Given the description of an element on the screen output the (x, y) to click on. 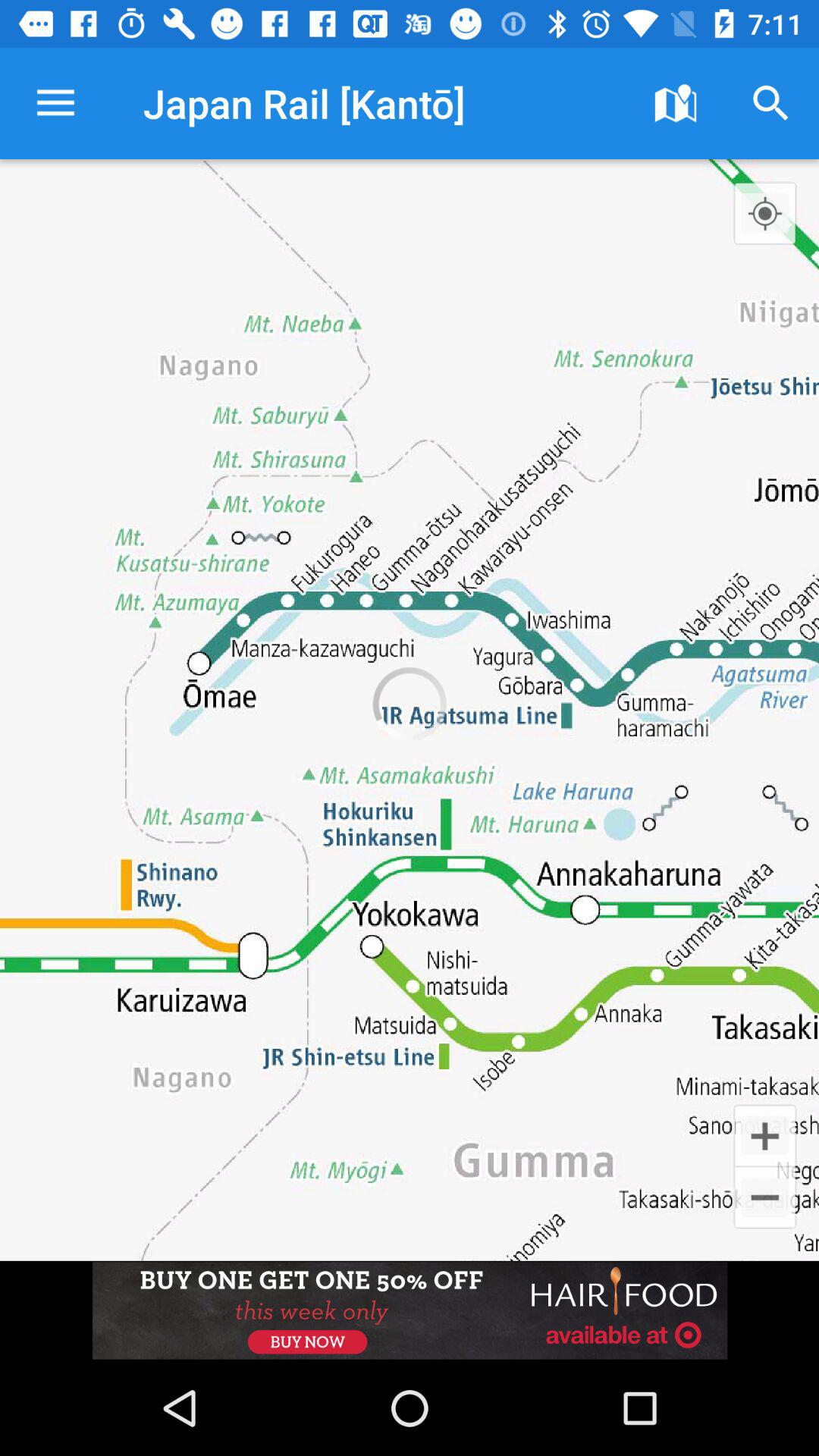
see my location (764, 213)
